Given the description of an element on the screen output the (x, y) to click on. 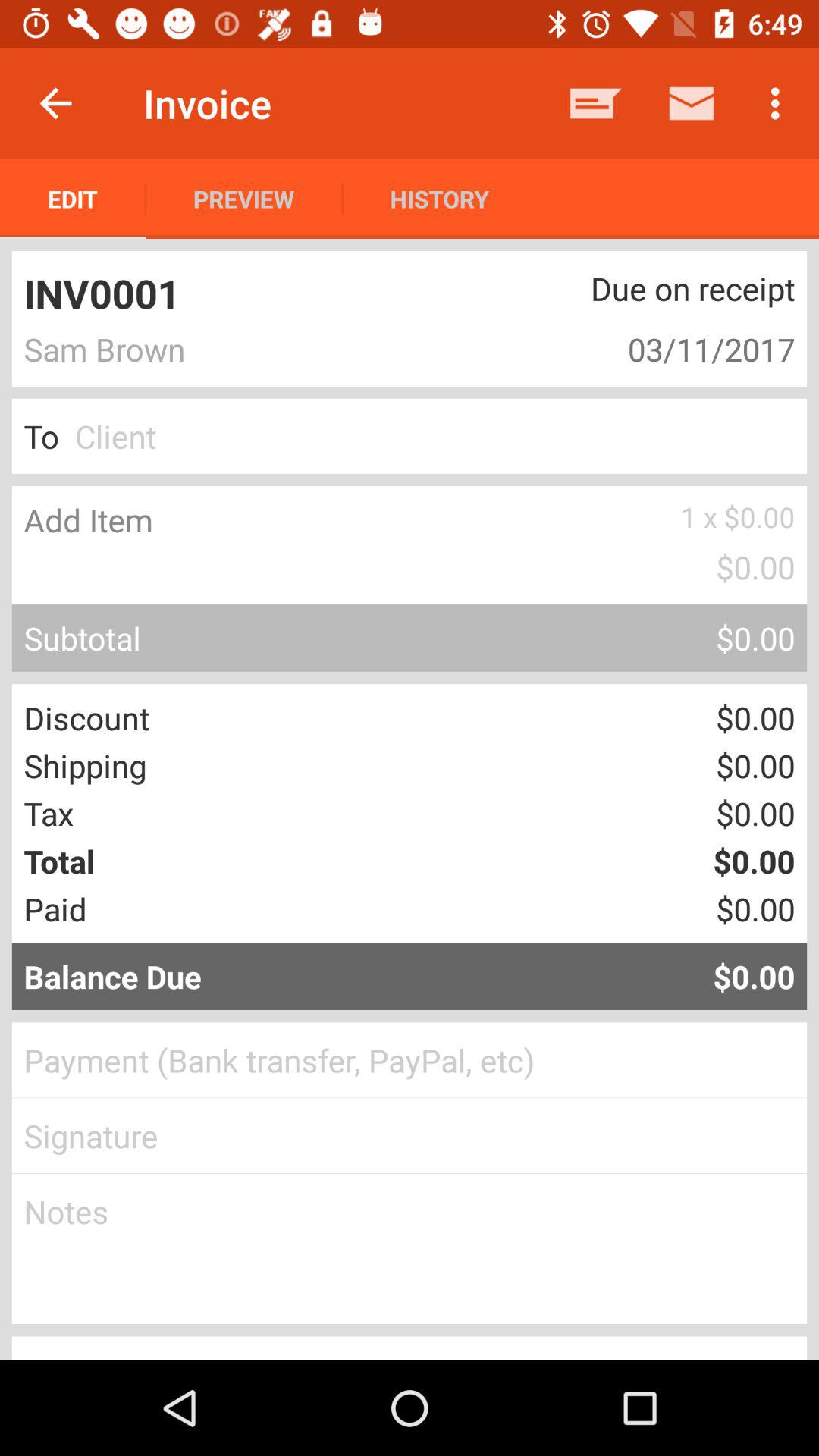
record notes (409, 1248)
